Given the description of an element on the screen output the (x, y) to click on. 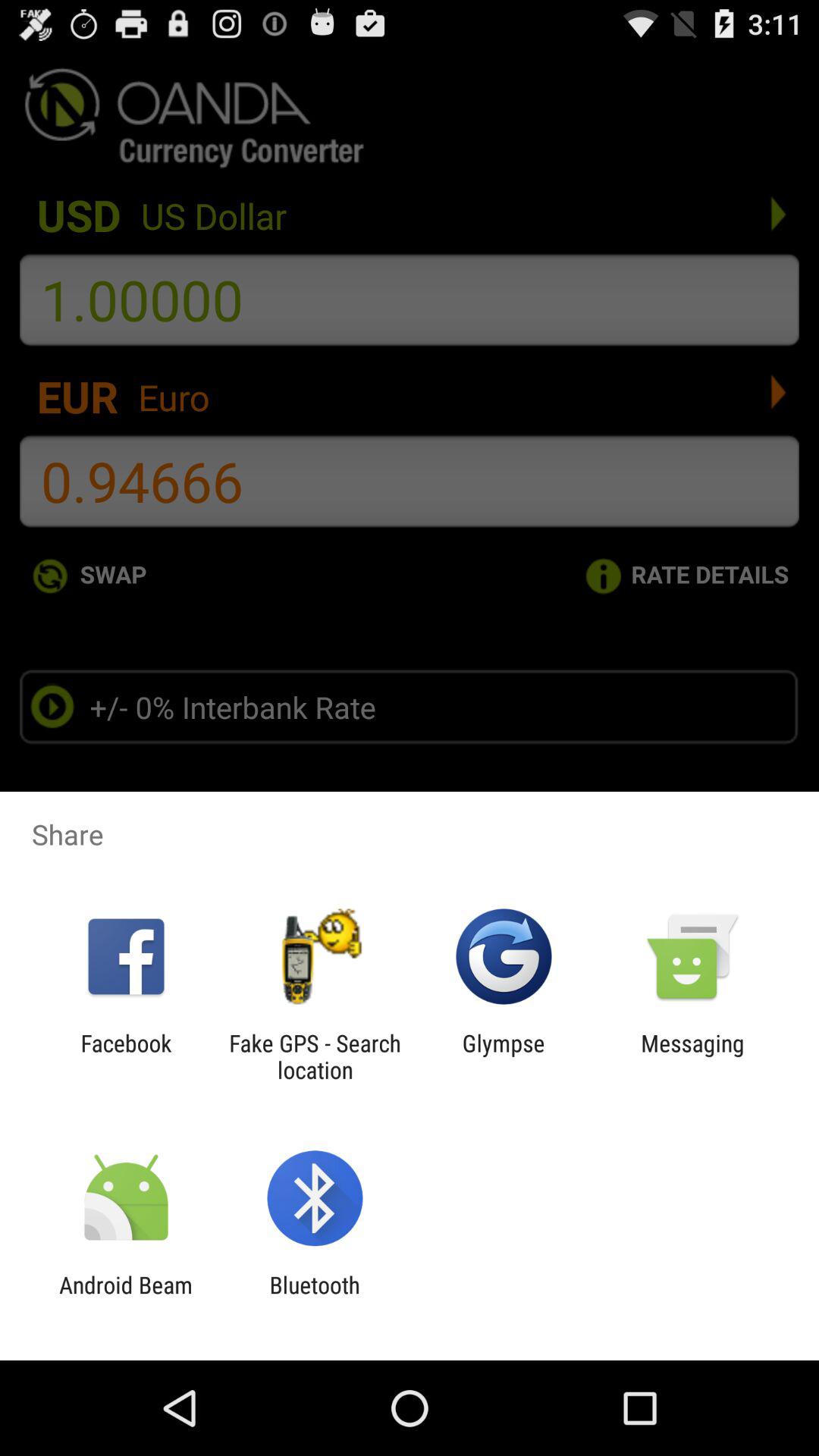
scroll until the facebook icon (125, 1056)
